Given the description of an element on the screen output the (x, y) to click on. 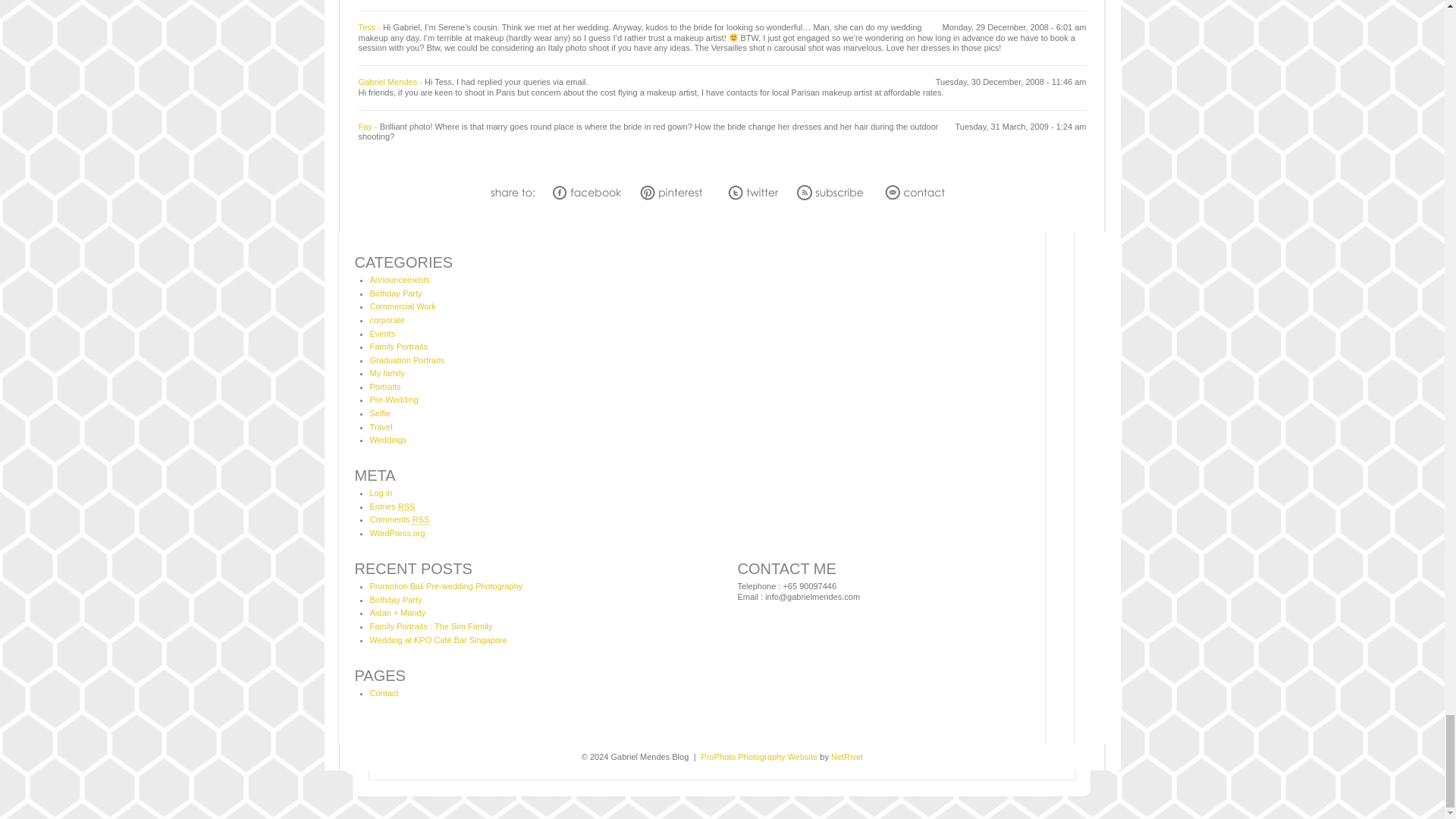
NetRivet (847, 756)
Really Simple Syndication (420, 519)
Really Simple Syndication (405, 506)
ProPhoto Photographer Blogsite (758, 756)
